Given the description of an element on the screen output the (x, y) to click on. 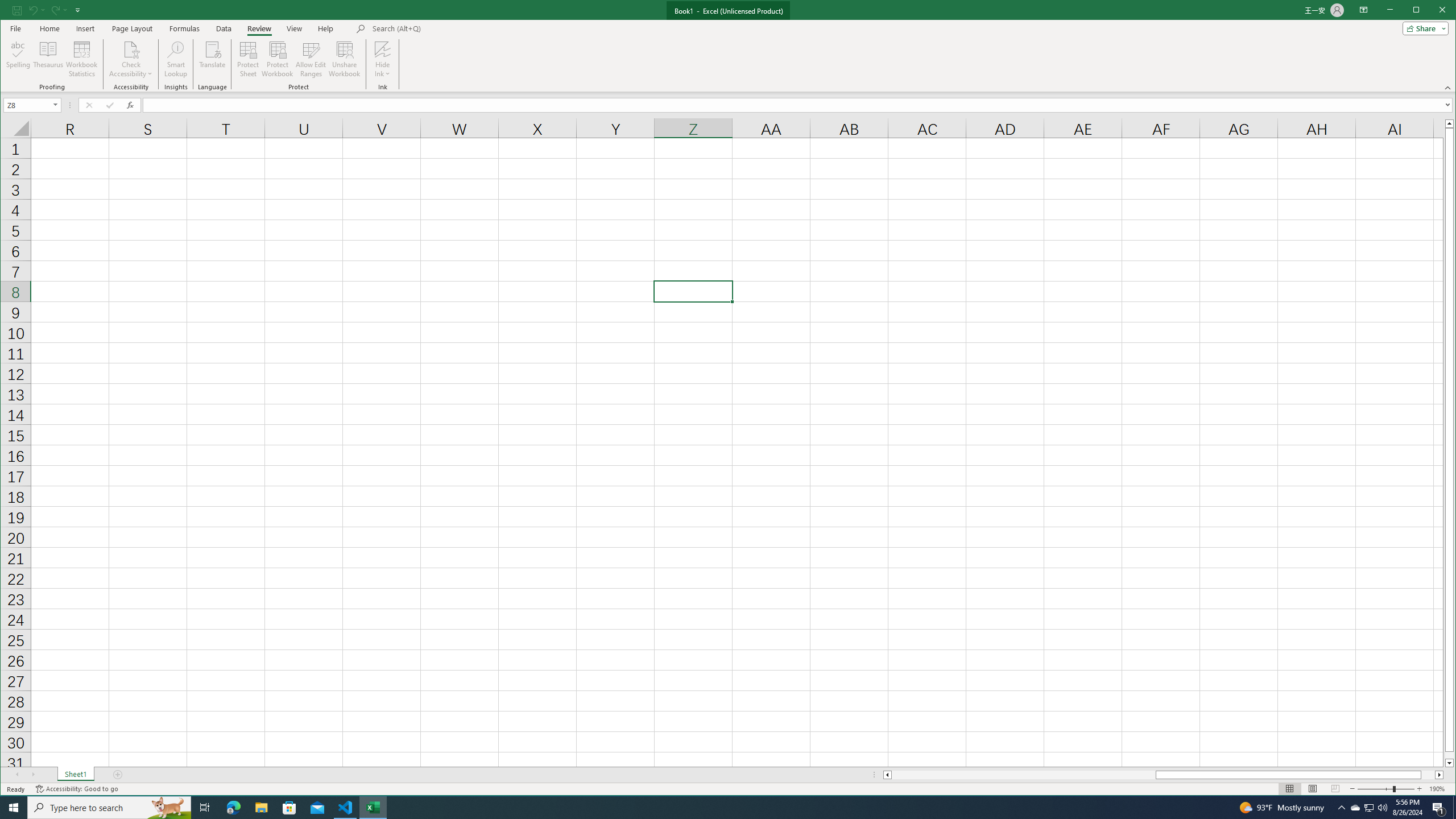
Check Accessibility (130, 59)
Hide Ink (382, 48)
Action Center, 1 new notification (1439, 807)
Microsoft Edge (233, 807)
Microsoft Store (289, 807)
